Given the description of an element on the screen output the (x, y) to click on. 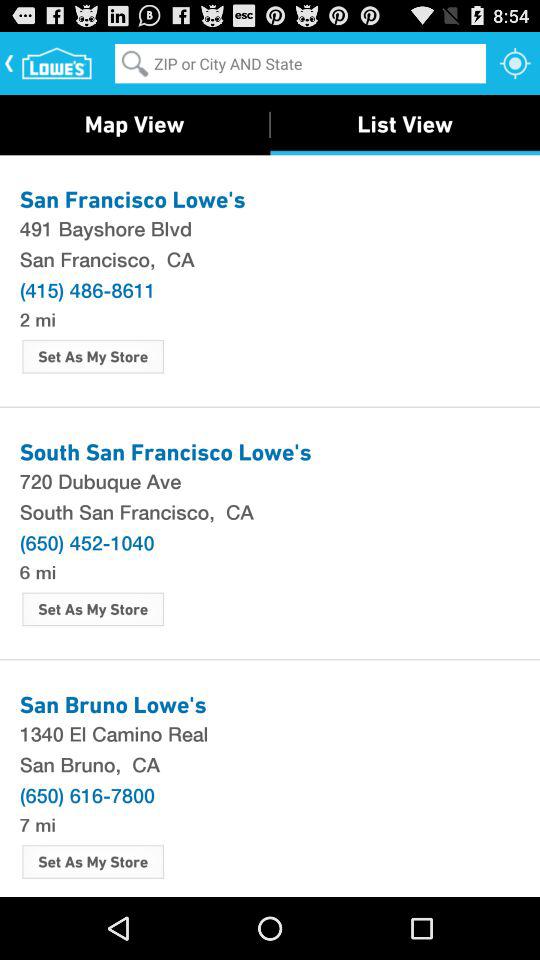
open 491 bayshore blvd (269, 227)
